Given the description of an element on the screen output the (x, y) to click on. 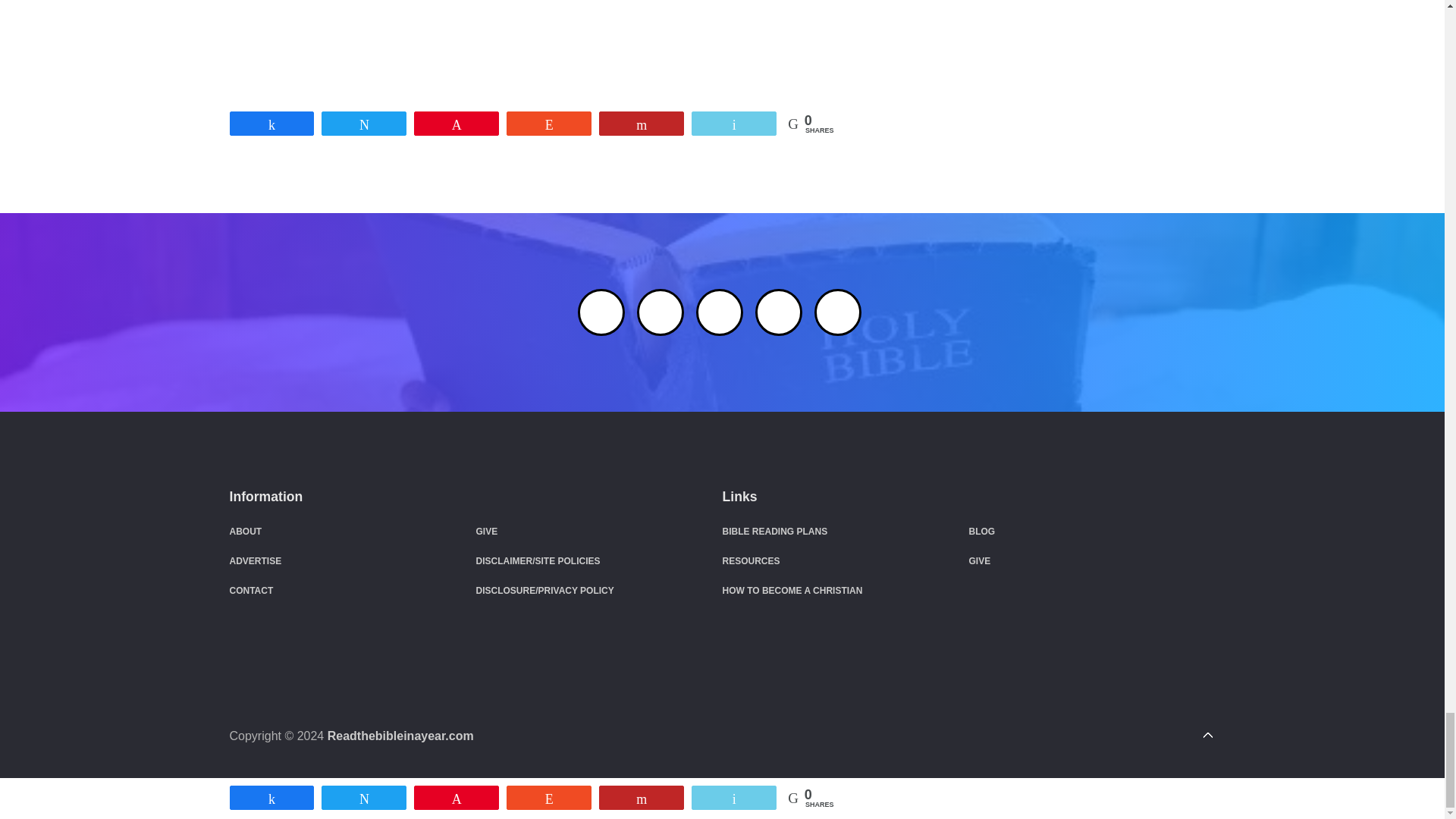
ABOUT (245, 531)
GIVE (486, 531)
